Given the description of an element on the screen output the (x, y) to click on. 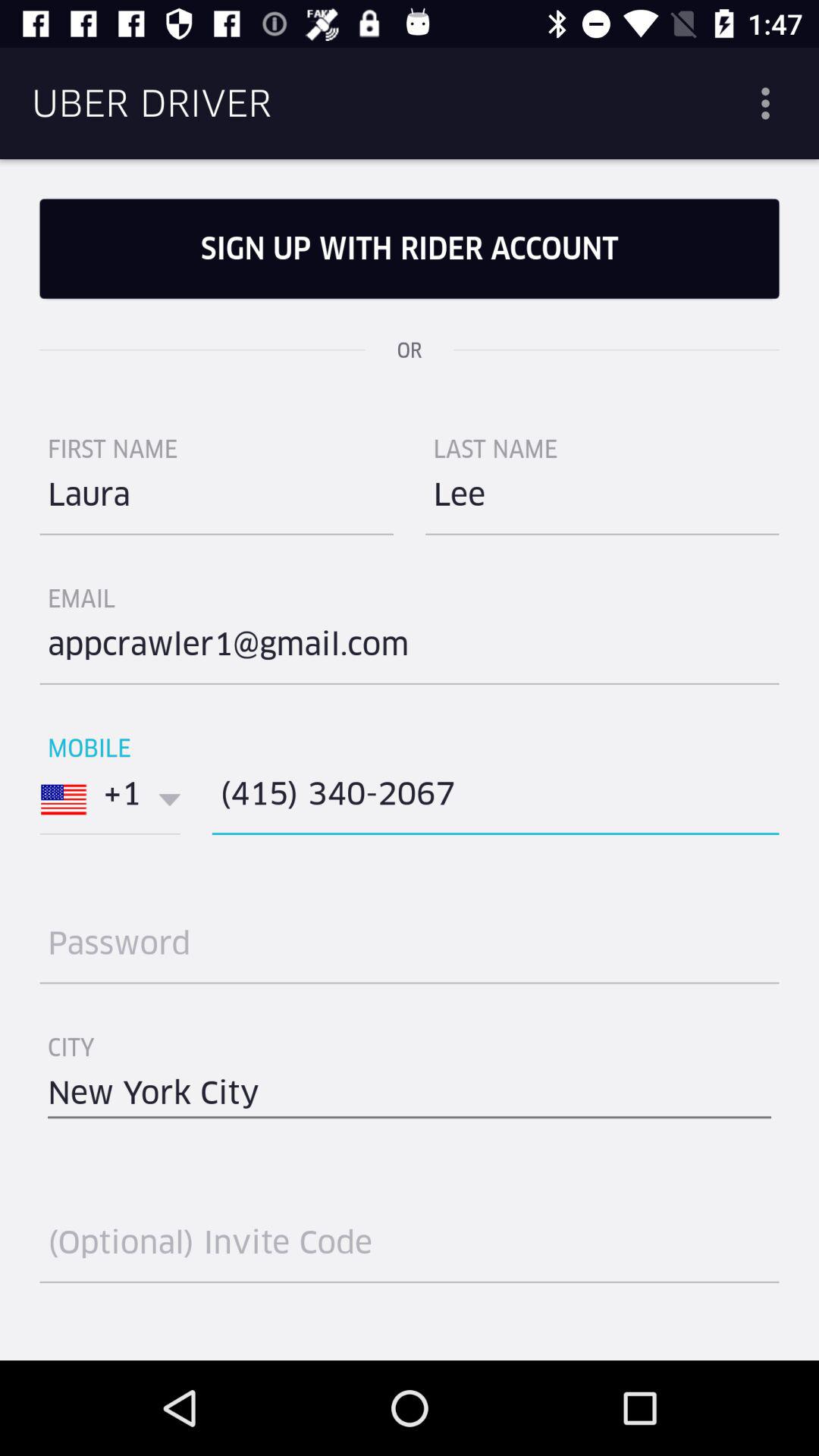
scroll until new york city (409, 1099)
